Given the description of an element on the screen output the (x, y) to click on. 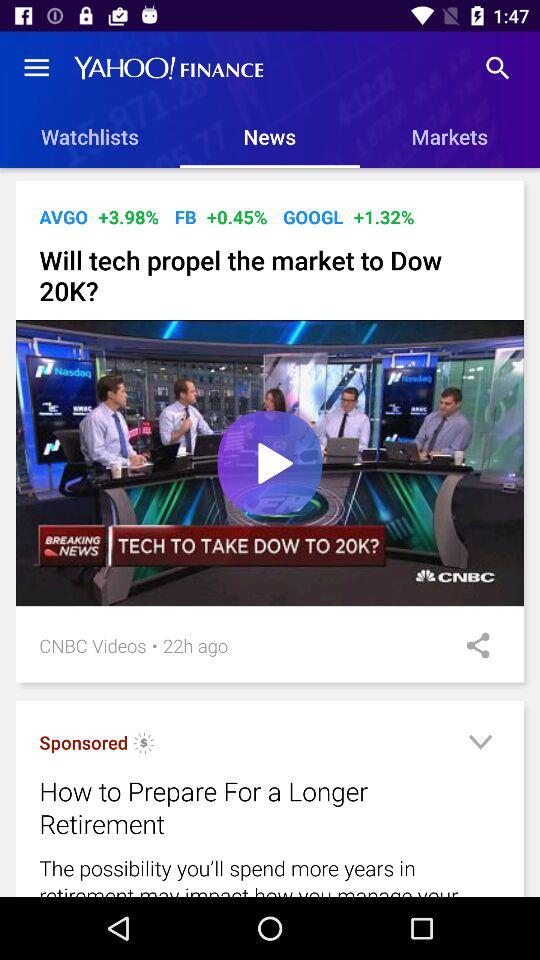
minimizes advertisement (480, 745)
